Given the description of an element on the screen output the (x, y) to click on. 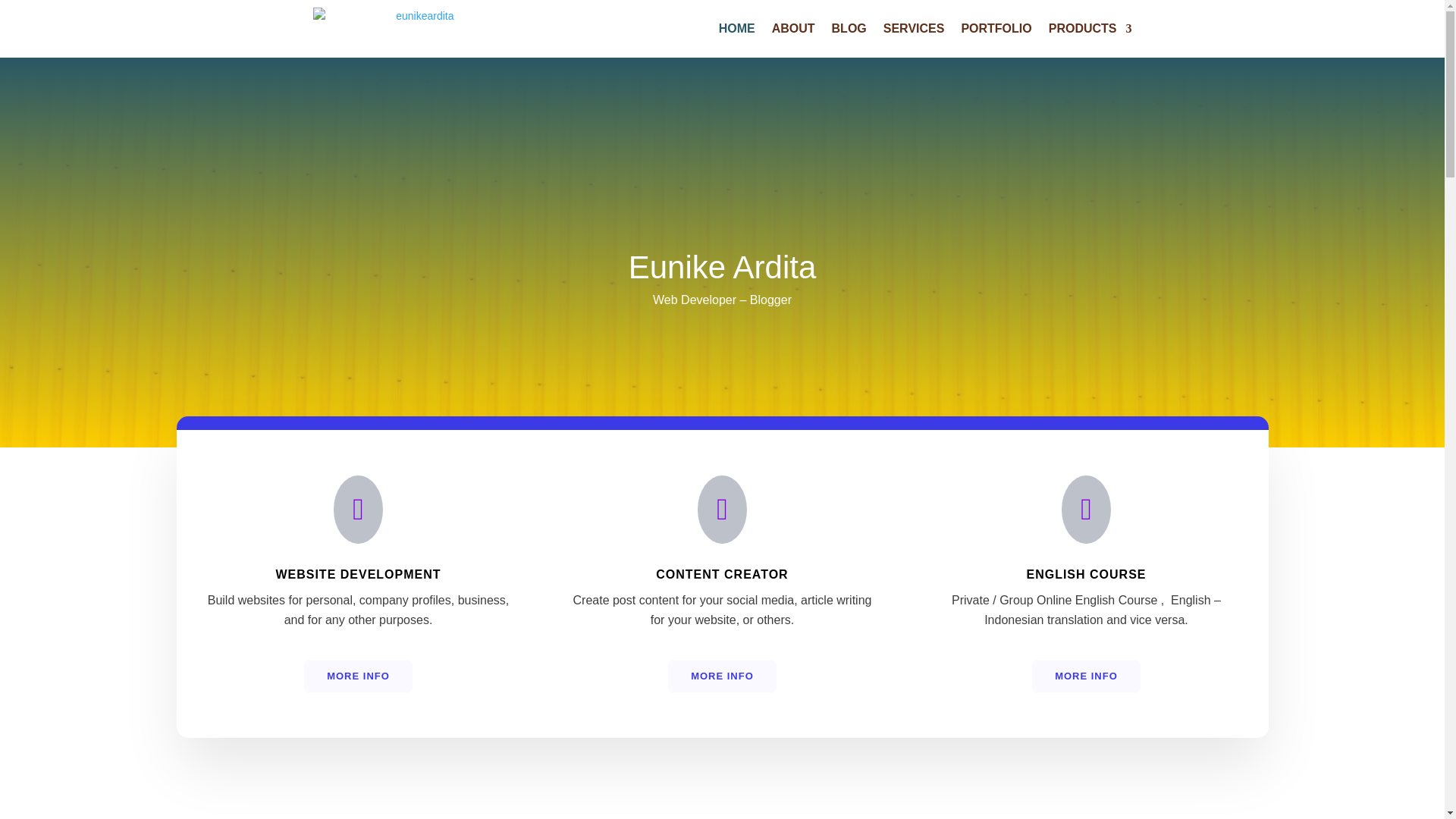
MORE INFO (722, 676)
MORE INFO (1086, 676)
SERVICES (913, 28)
BLOG (848, 28)
PRODUCTS (1090, 28)
HOME (737, 28)
ABOUT (793, 28)
MORE INFO (358, 676)
PORTFOLIO (995, 28)
